Given the description of an element on the screen output the (x, y) to click on. 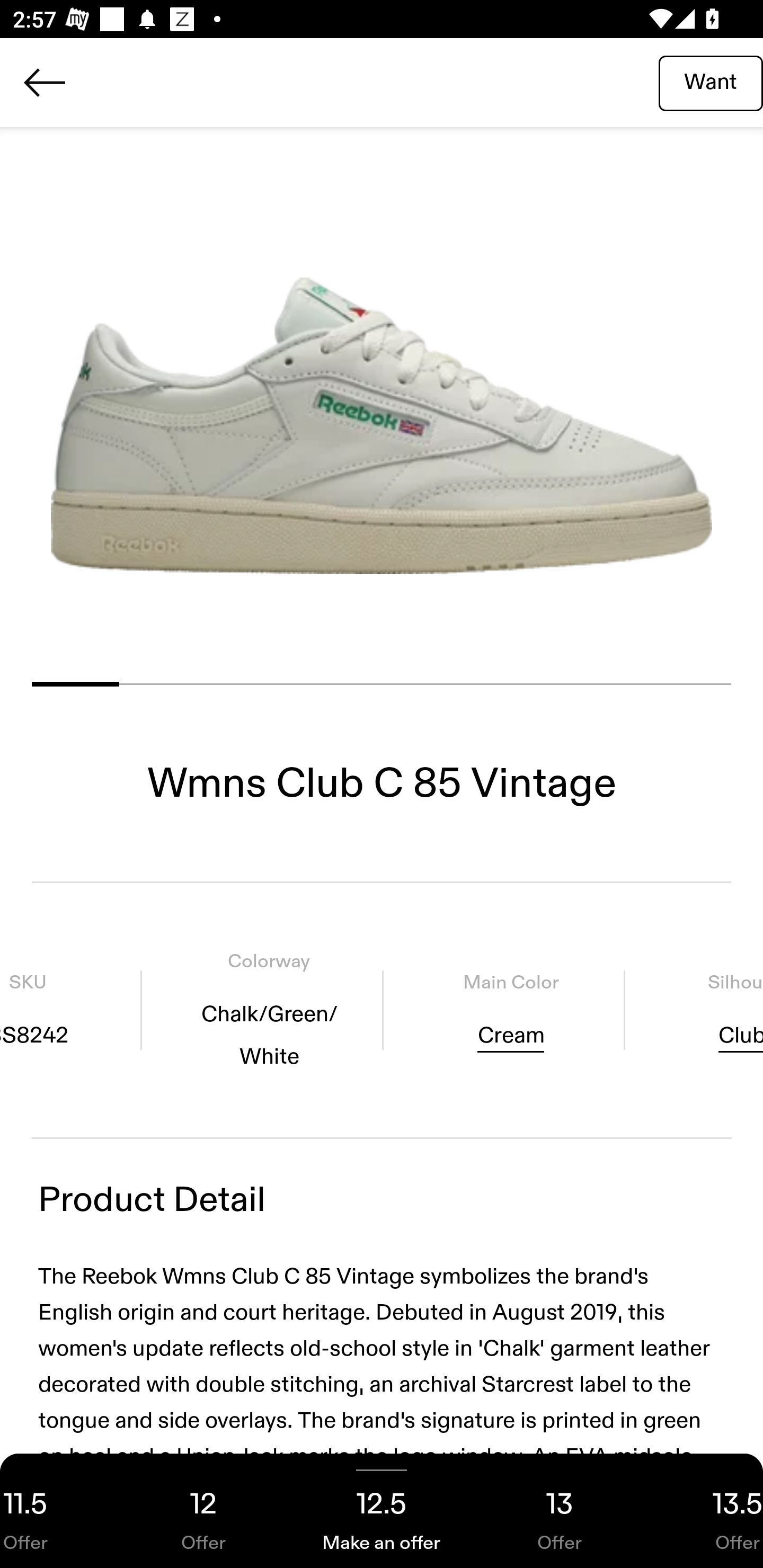
Want (710, 82)
Colorway Chalk/Green/White (268, 1009)
Main Color Cream (509, 1009)
11.5 Offer (57, 1510)
12 Offer (203, 1510)
12.5 Make an offer (381, 1510)
13 Offer (559, 1510)
13.5 Offer (705, 1510)
